Given the description of an element on the screen output the (x, y) to click on. 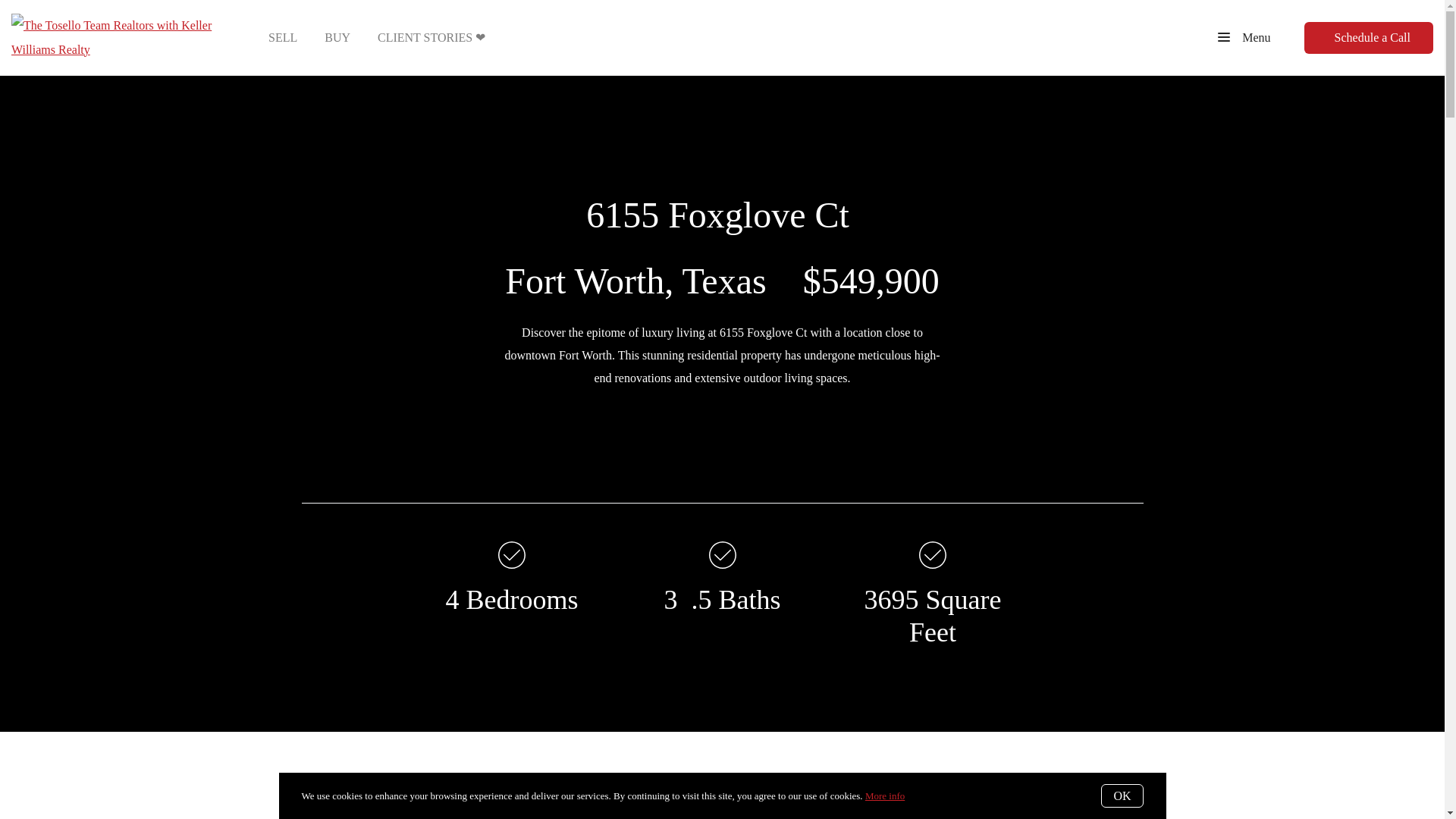
BUY (336, 37)
SELL (282, 37)
Menu (1243, 37)
Schedule a Call (1368, 37)
